Given the description of an element on the screen output the (x, y) to click on. 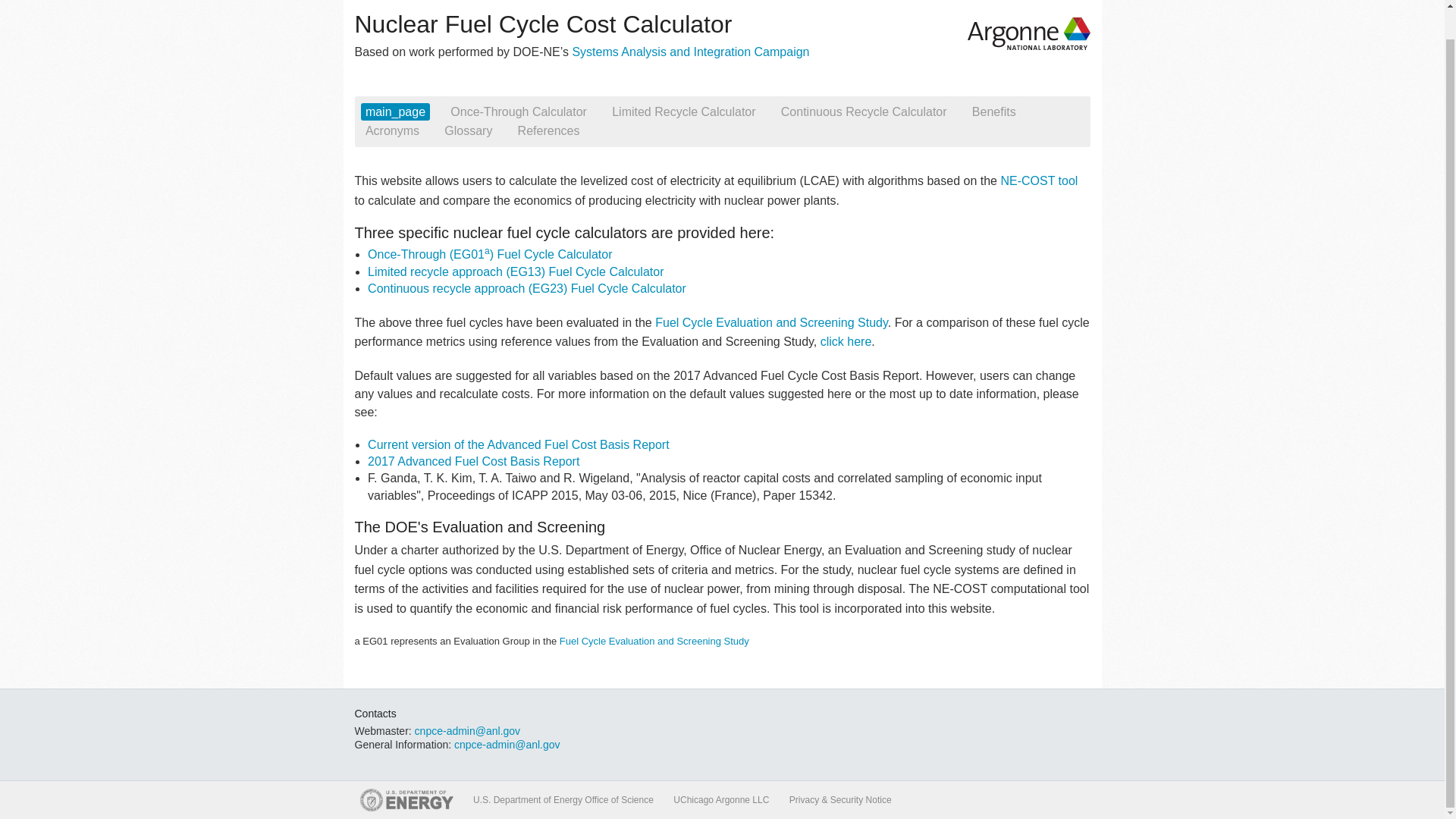
UChicago Argonne LLC (720, 799)
References (548, 130)
Fuel Cycle Evaluation and Screening Study (771, 322)
Benefits (993, 111)
Continuous Recycle Calculator (864, 111)
Fuel Cycle Evaluation and Screening Study (654, 641)
click here (846, 341)
Acronyms (393, 130)
Current version of the Advanced Fuel Cost Basis Report (518, 444)
Once-Through Calculator (518, 111)
Limited Recycle Calculator (683, 111)
NE-COST tool (1038, 180)
2017 Advanced Fuel Cost Basis Report (473, 461)
U.S. Department of Energy Office of Science (563, 799)
Systems Analysis and Integration Campaign (690, 51)
